Given the description of an element on the screen output the (x, y) to click on. 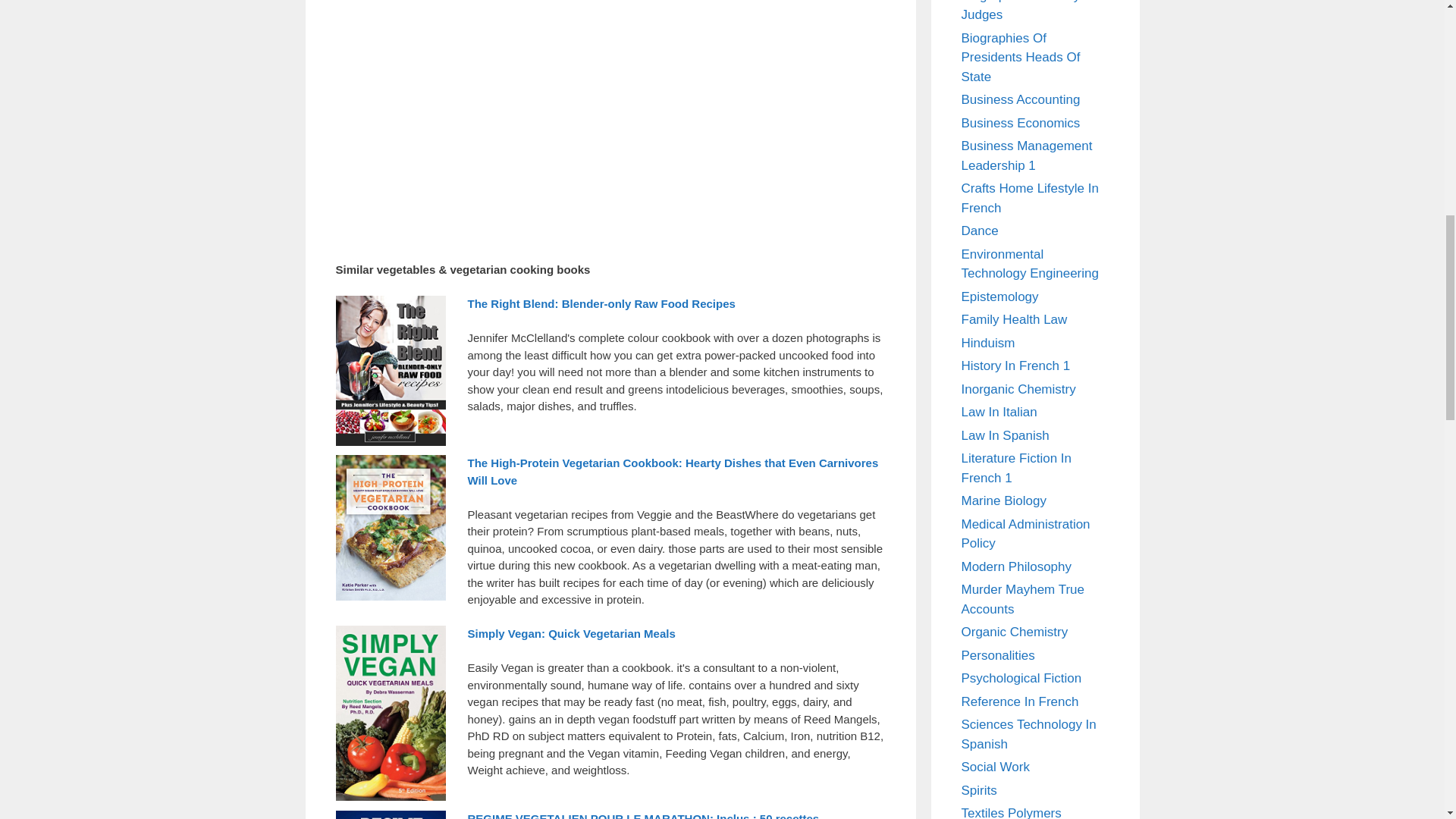
Biographies Of Lawyers Judges (1028, 11)
The Right Blend: Blender-only Raw Food Recipes (601, 303)
Simply Vegan: Quick Vegetarian Meals (571, 633)
Biographies Of Presidents Heads Of State (1020, 57)
Business Accounting (1020, 99)
